Given the description of an element on the screen output the (x, y) to click on. 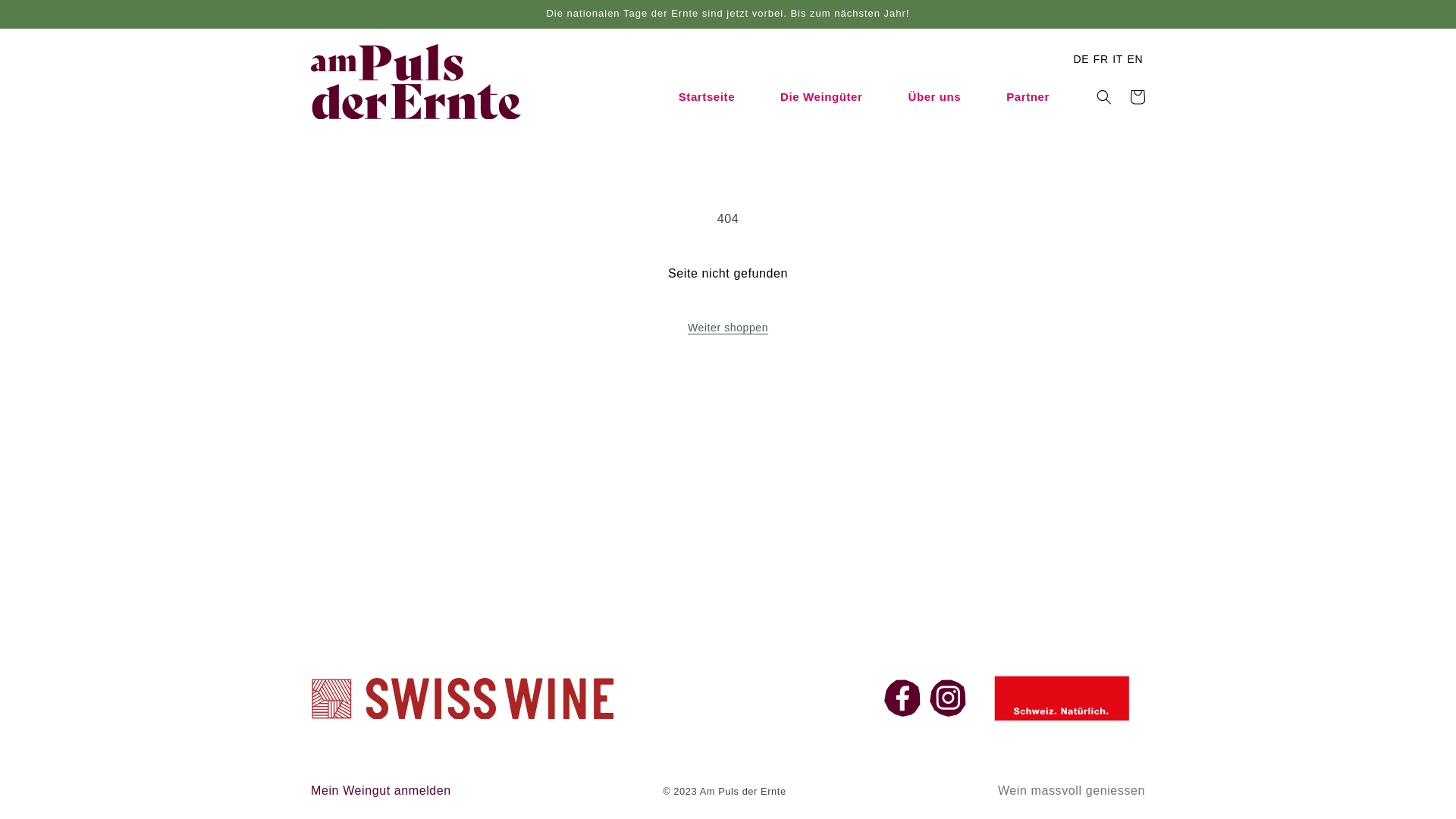
Warenkorb Element type: text (1137, 95)
Weiter shoppen Element type: text (727, 327)
FR Element type: text (1100, 59)
Startseite Element type: text (706, 95)
EN Element type: text (1135, 59)
Instagram Element type: text (947, 698)
Facebook Element type: text (902, 698)
Partner Element type: text (1027, 95)
IT Element type: text (1117, 59)
DE Element type: text (1081, 59)
Mein Weingut anmelden Element type: text (380, 790)
Am Puls der Ernte Element type: text (742, 791)
